Given the description of an element on the screen output the (x, y) to click on. 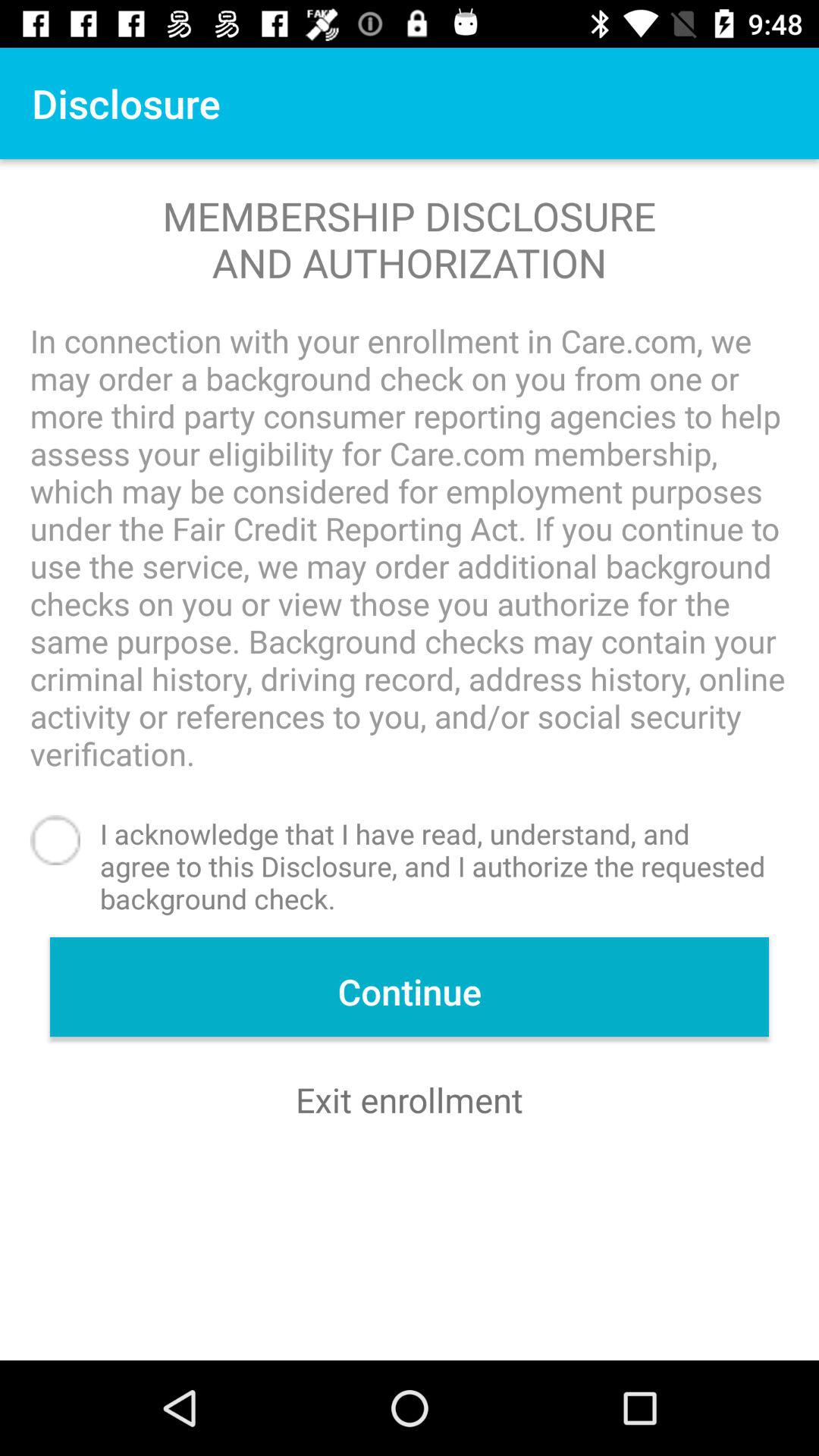
launch item below continue icon (409, 1099)
